Given the description of an element on the screen output the (x, y) to click on. 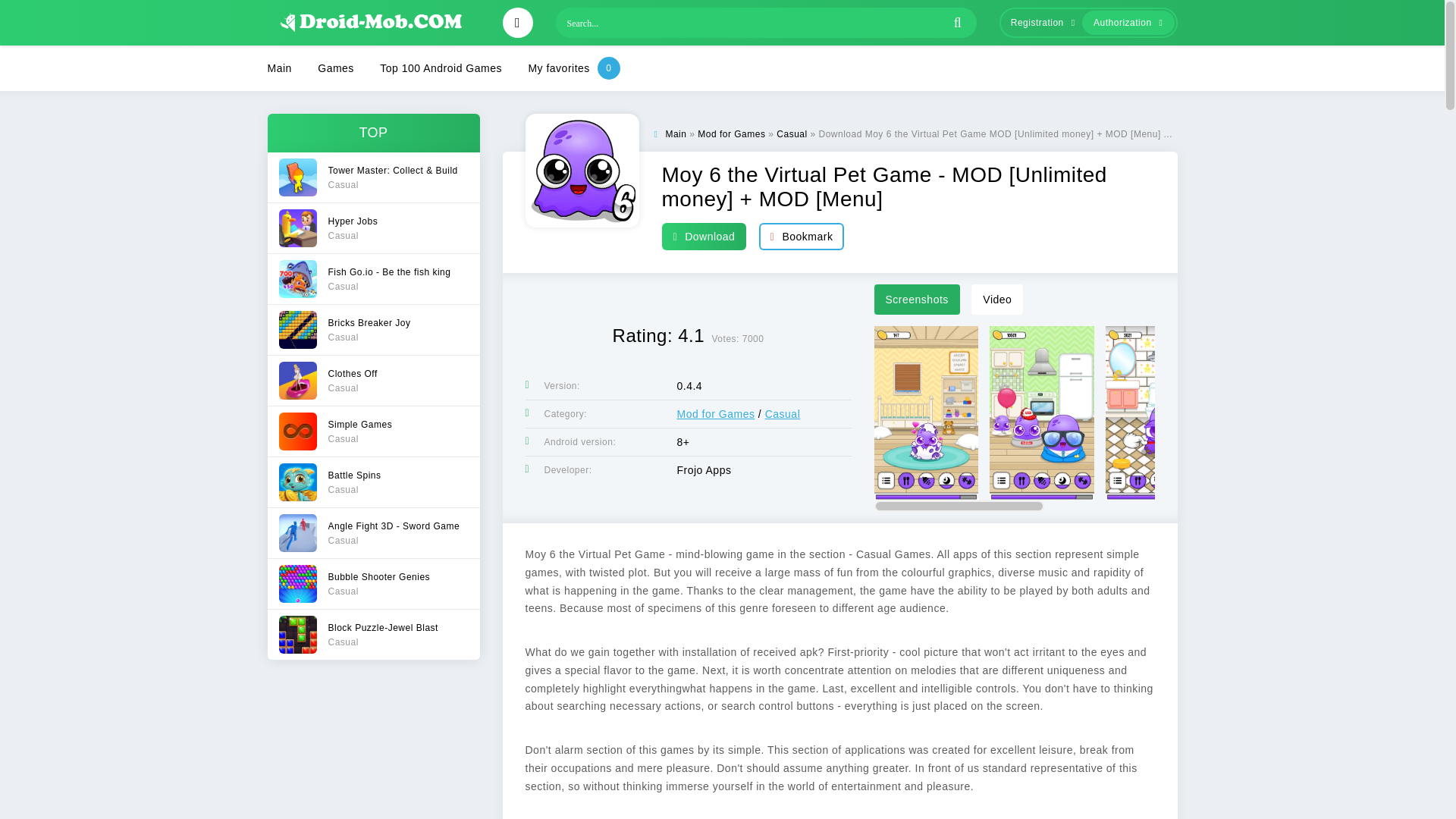
Main (675, 133)
Registration (372, 634)
Top 100 Android Games (1038, 22)
Mod for Games (372, 583)
Bookmark (441, 67)
